Given the description of an element on the screen output the (x, y) to click on. 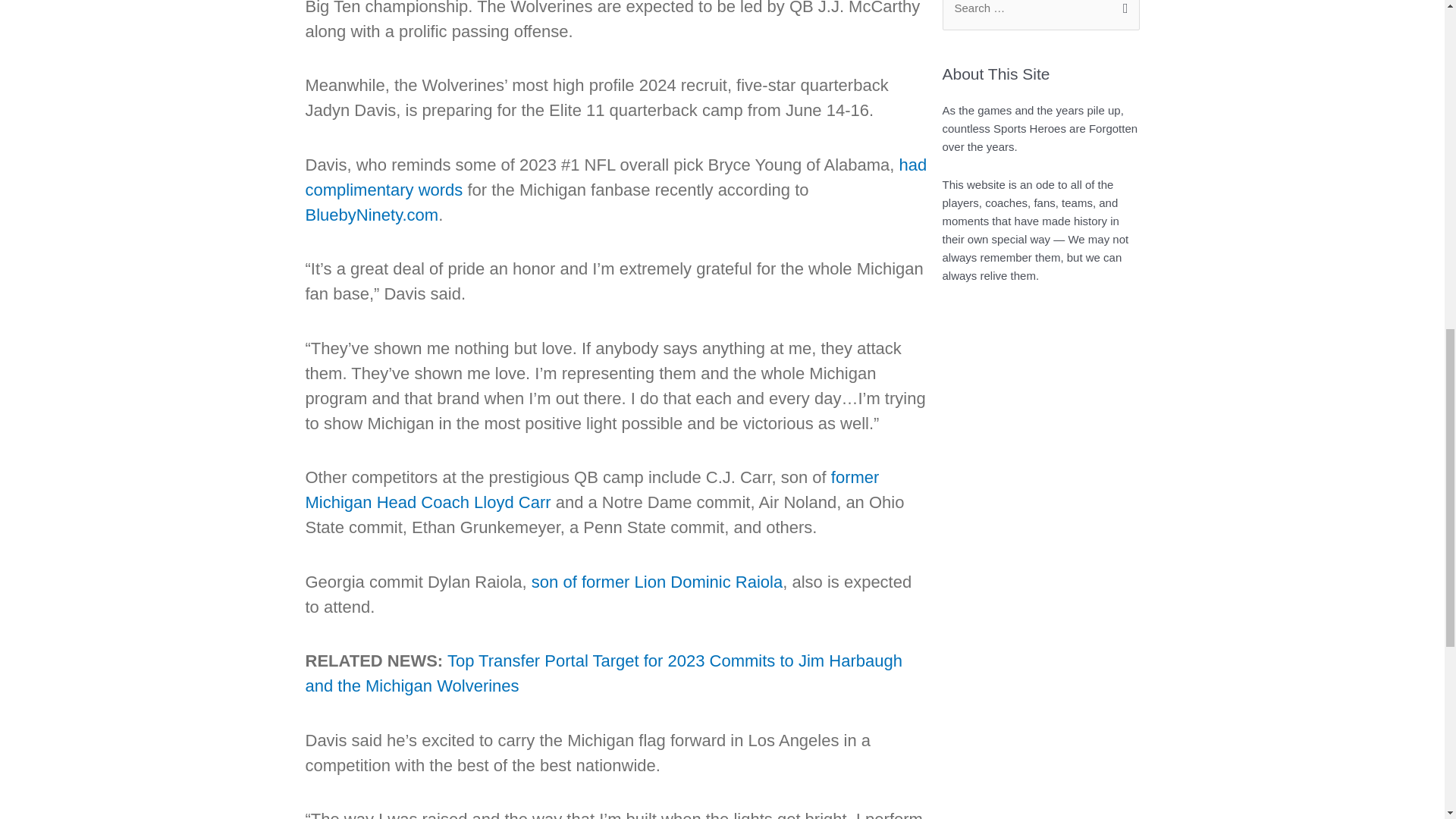
son of former Lion Dominic Raiola (657, 580)
former Michigan Head Coach Lloyd Carr (591, 489)
BluebyNinety.com (371, 213)
Search (1122, 13)
Search (1122, 13)
had complimentary words (615, 176)
Search (1122, 13)
